Given the description of an element on the screen output the (x, y) to click on. 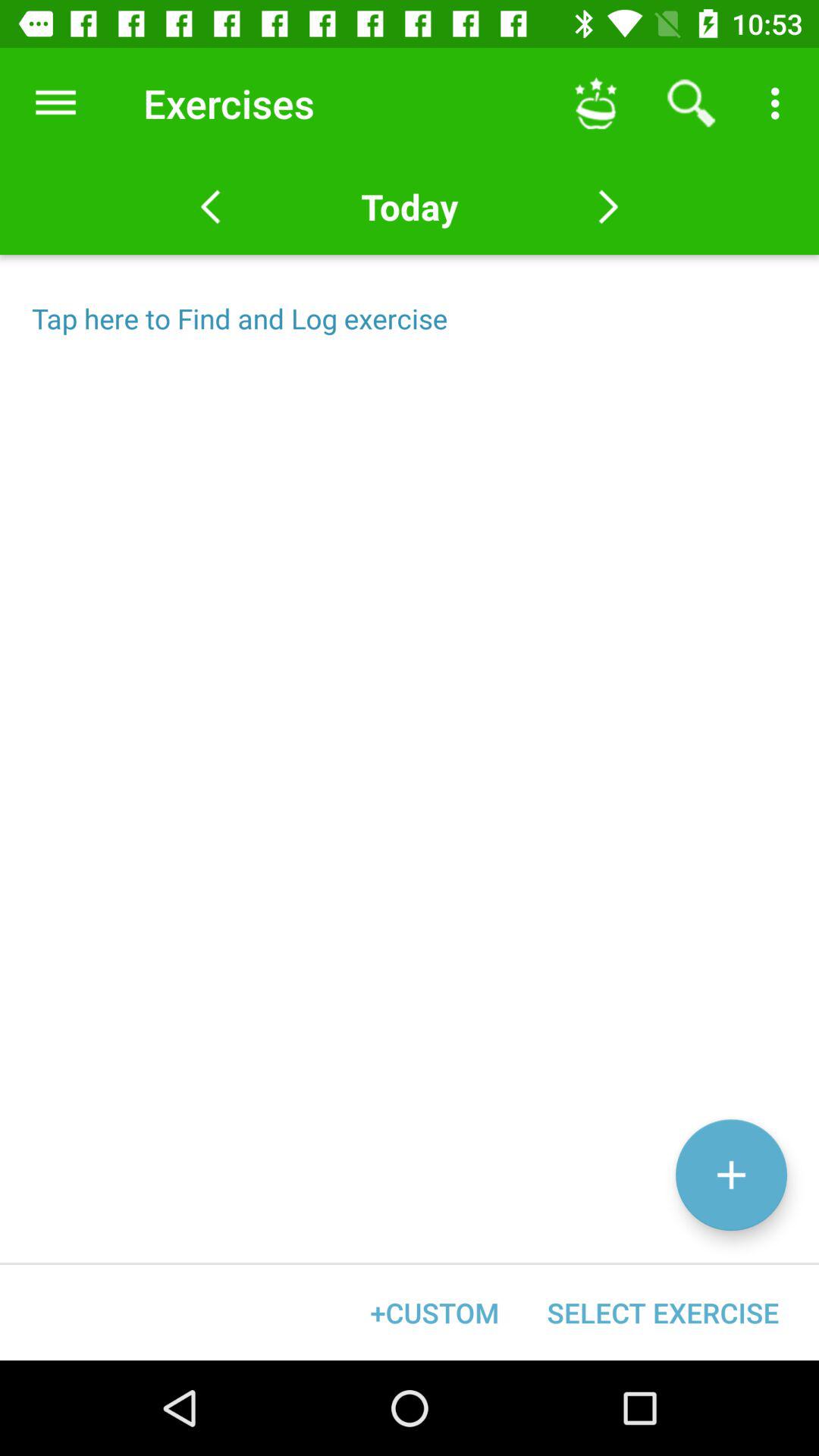
tap the custom button (434, 1312)
select more option on the top right corner (779, 103)
click on the next icon just to the right of today (608, 206)
click on the arrow icon which is below excercises (210, 206)
